Given the description of an element on the screen output the (x, y) to click on. 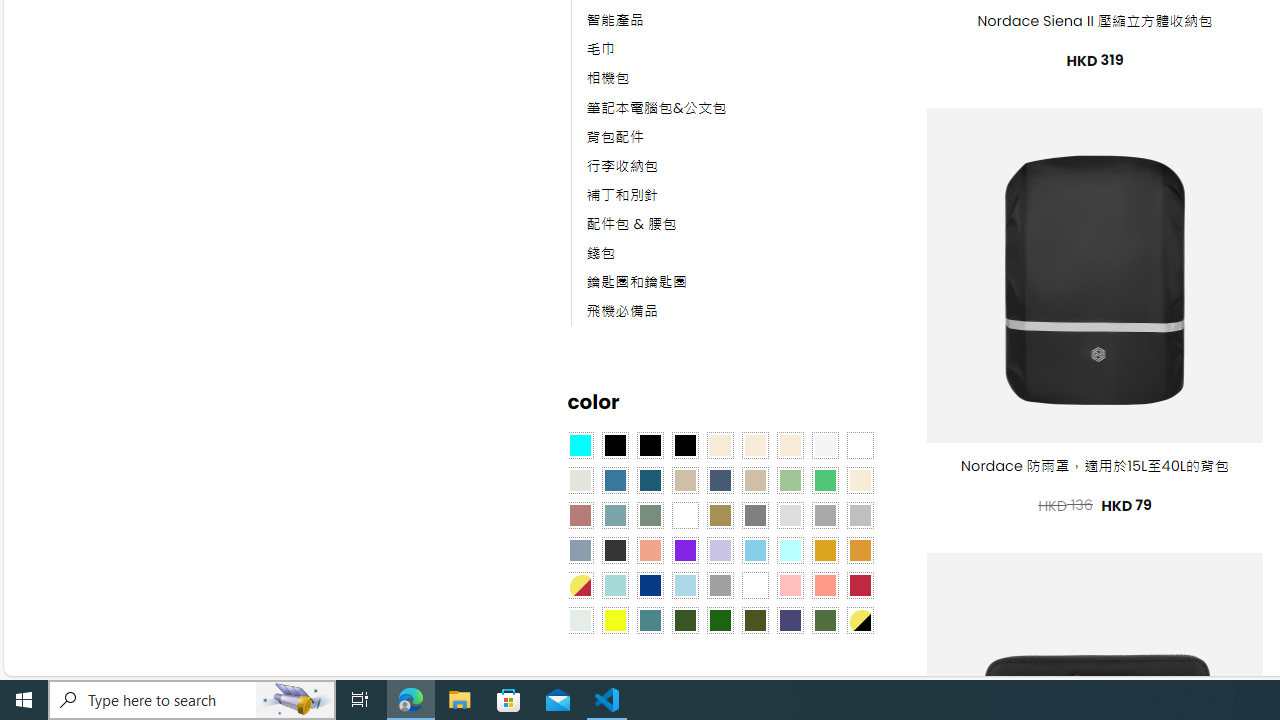
Cream (789, 444)
